Given the description of an element on the screen output the (x, y) to click on. 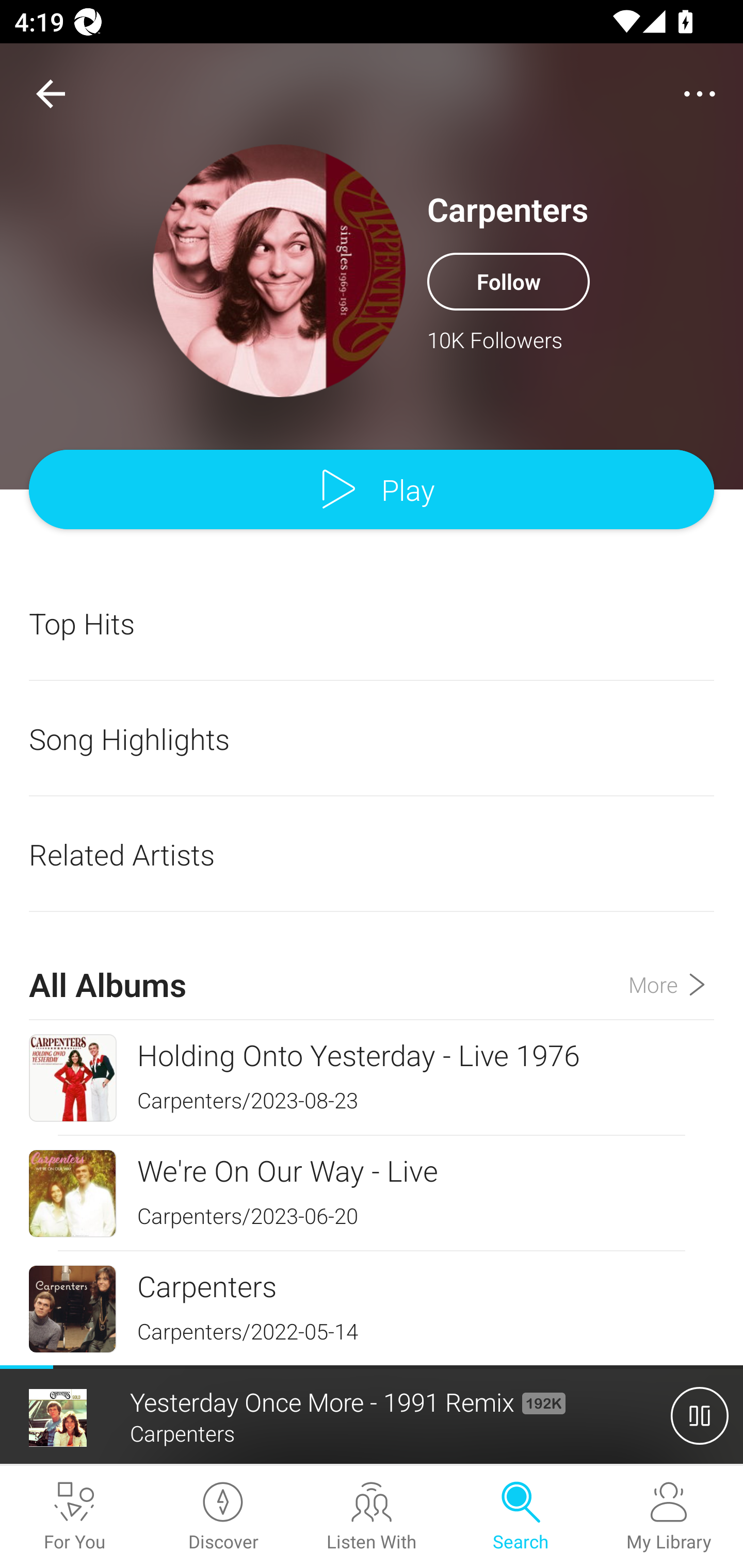
overflow (699, 93)
view_artist_avatar (279, 270)
Follow button_subscription (508, 281)
Play (371, 489)
Top Hits (371, 623)
Song Highlights (371, 738)
Related Artists (371, 854)
All Albums More (371, 966)
We're On Our Way - Live Carpenters/2023-06-20 (371, 1193)
Carpenters Carpenters/2022-05-14 (371, 1308)
暫停播放 (699, 1415)
For You (74, 1517)
Discover (222, 1517)
Listen With (371, 1517)
Search (519, 1517)
My Library (668, 1517)
